Given the description of an element on the screen output the (x, y) to click on. 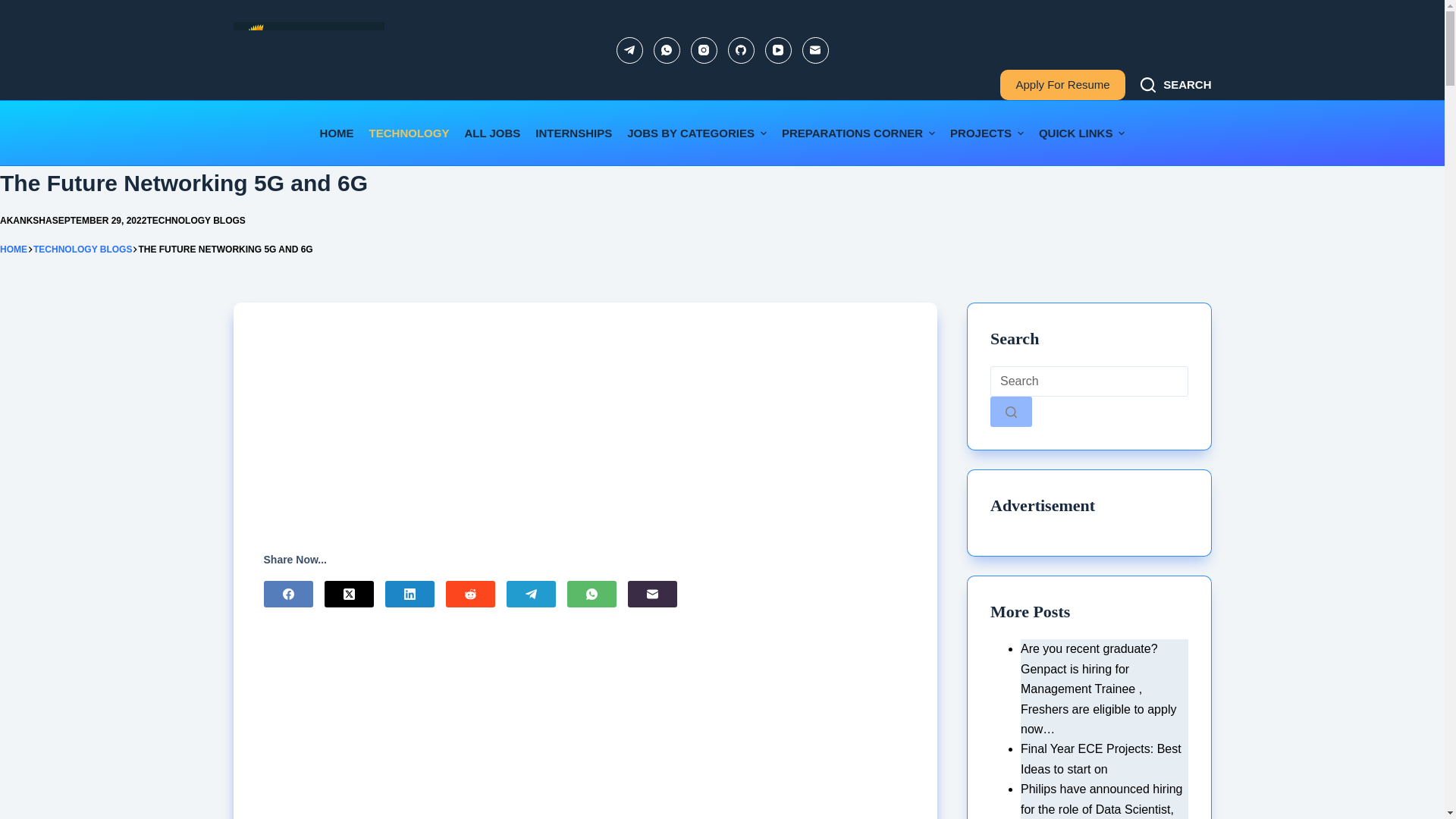
Skip to content (15, 7)
Search for... (1089, 381)
Posts by Akanksha (26, 220)
